Given the description of an element on the screen output the (x, y) to click on. 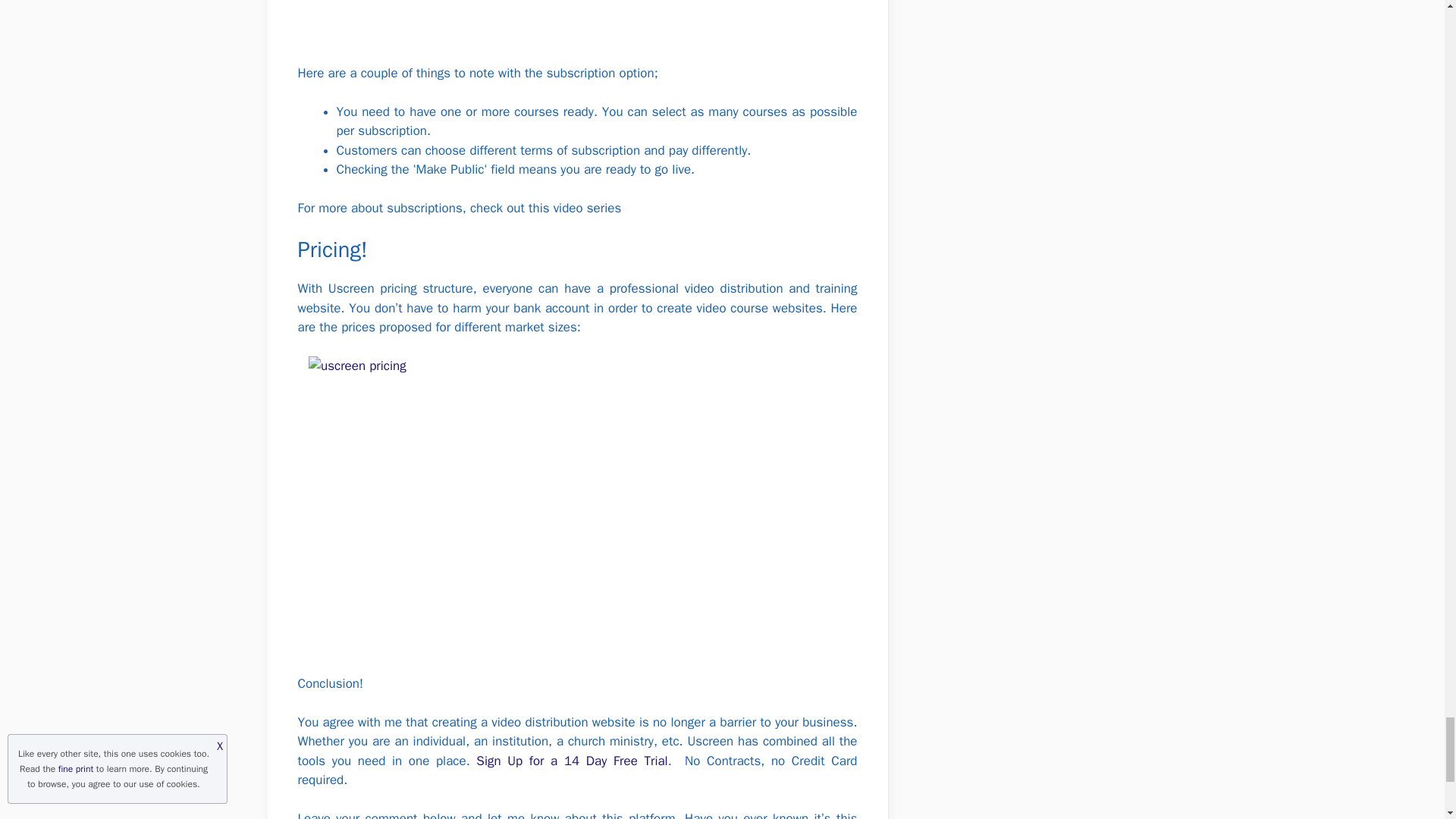
14 Day Free Trial (616, 760)
Sign Up for a (520, 760)
